Given the description of an element on the screen output the (x, y) to click on. 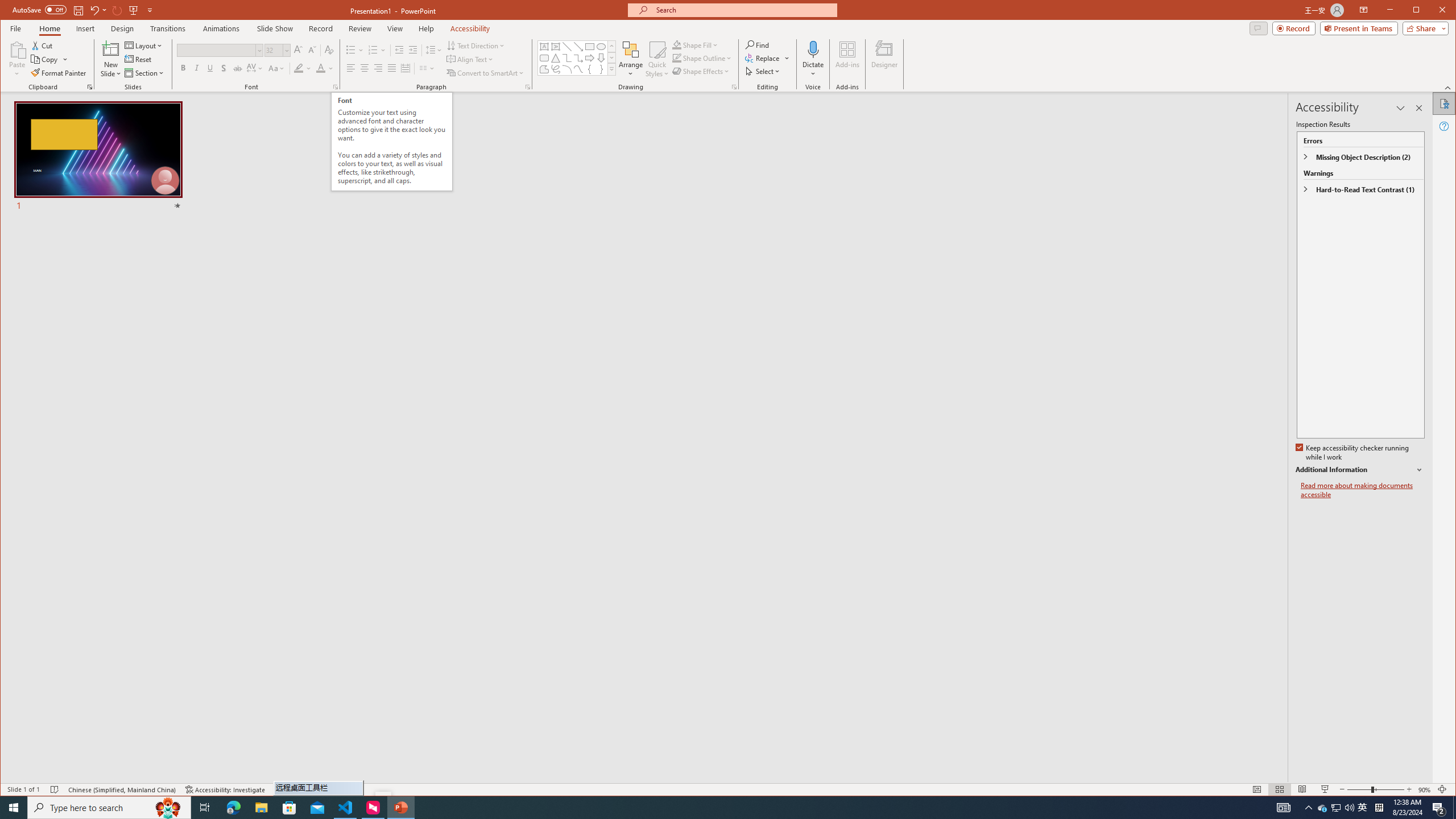
Keep accessibility checker running while I work (1352, 452)
Shape Effects (702, 70)
